Given the description of an element on the screen output the (x, y) to click on. 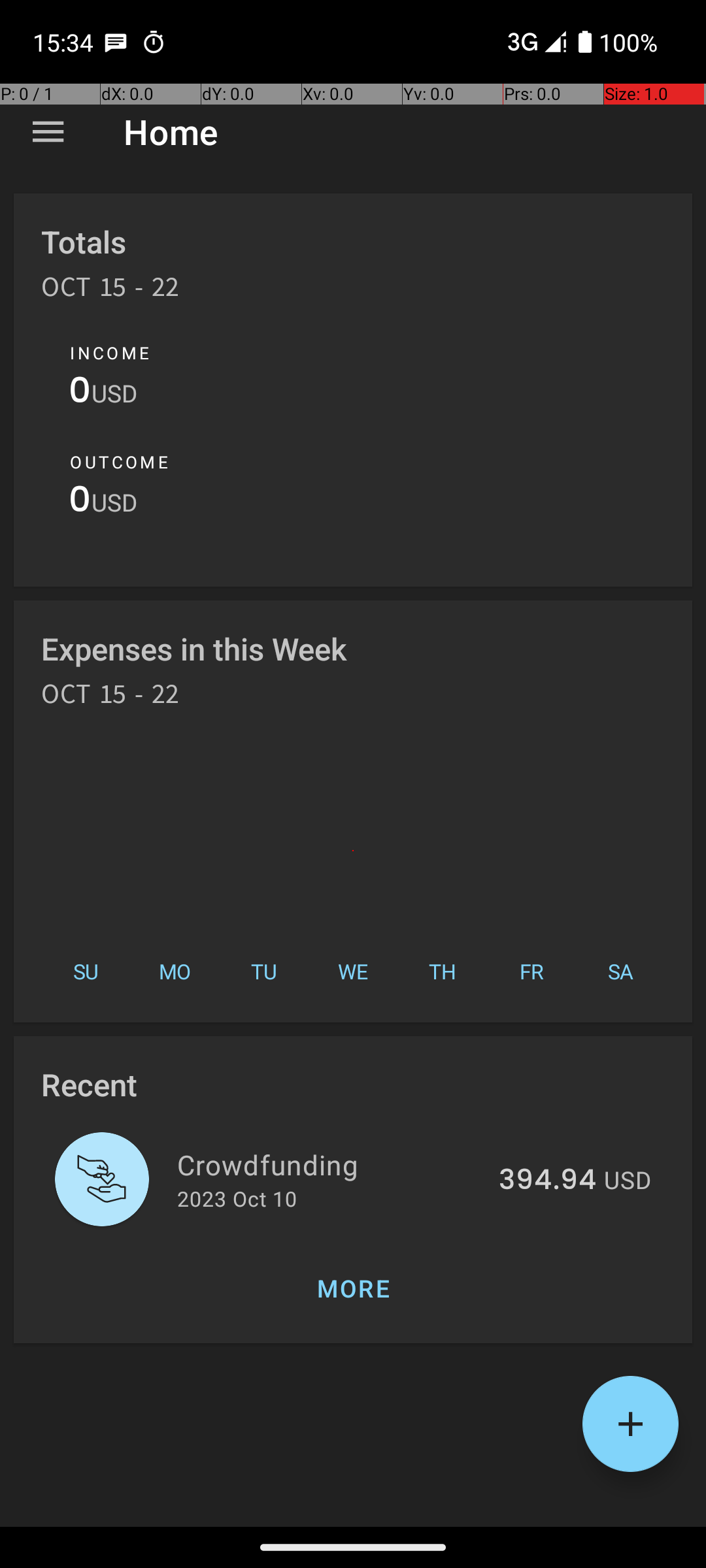
394.94 Element type: android.widget.TextView (547, 1180)
